Given the description of an element on the screen output the (x, y) to click on. 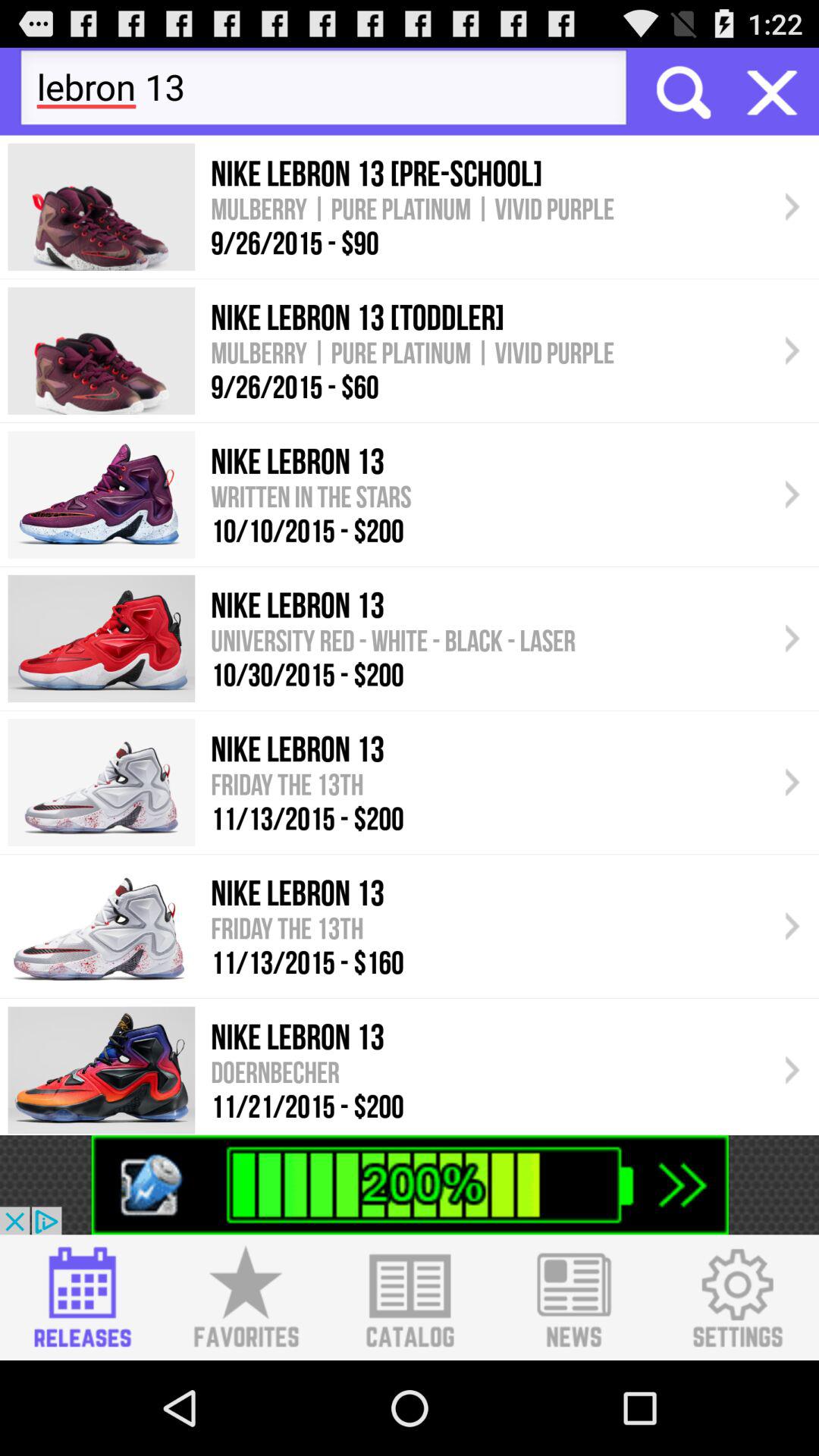
go to favorites (245, 1297)
